Given the description of an element on the screen output the (x, y) to click on. 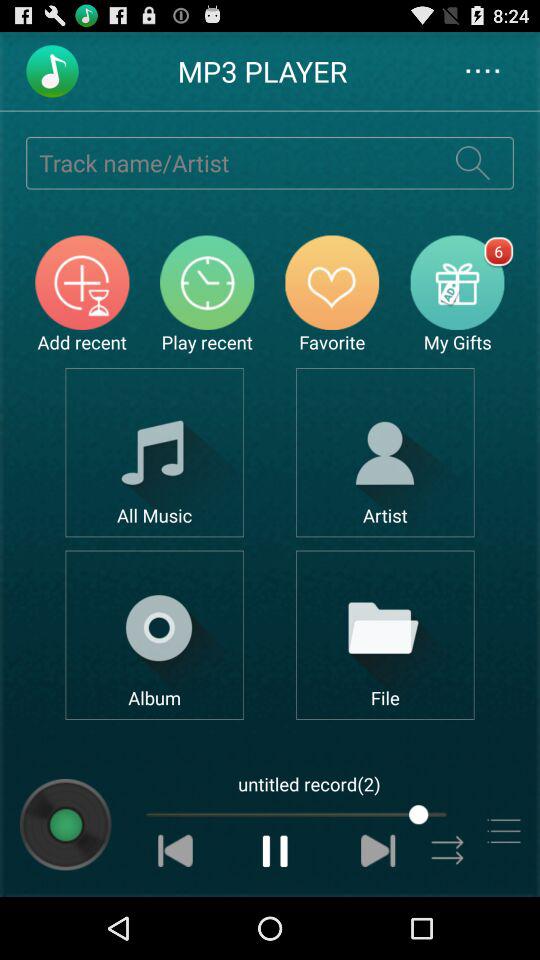
forward or skip song (378, 850)
